Given the description of an element on the screen output the (x, y) to click on. 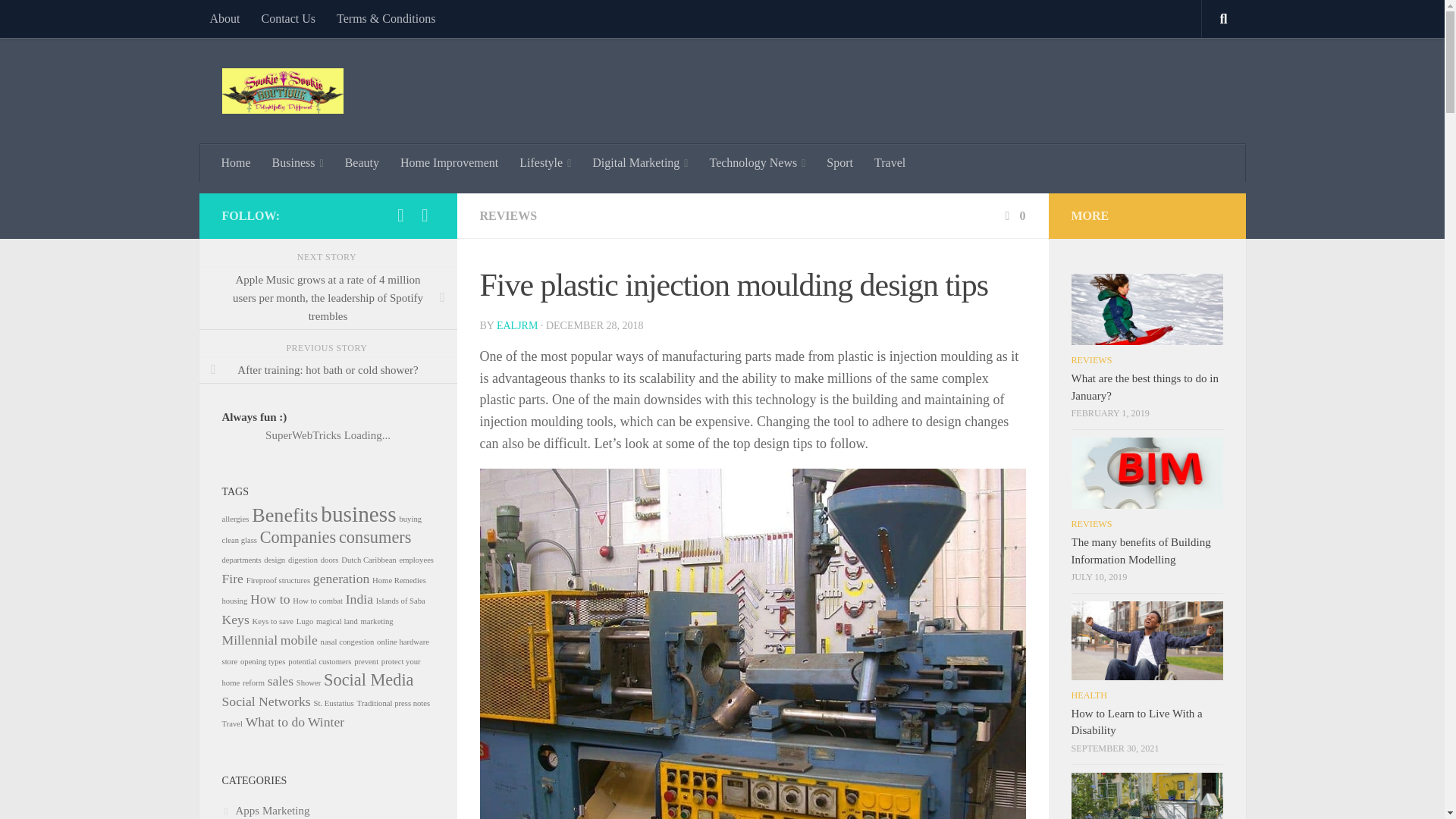
Skip to content (59, 20)
About (224, 18)
Home (236, 162)
Twitter (423, 215)
Facebook (400, 215)
Business (298, 162)
Contact Us (288, 18)
Posts by EaLjrm (516, 325)
